Given the description of an element on the screen output the (x, y) to click on. 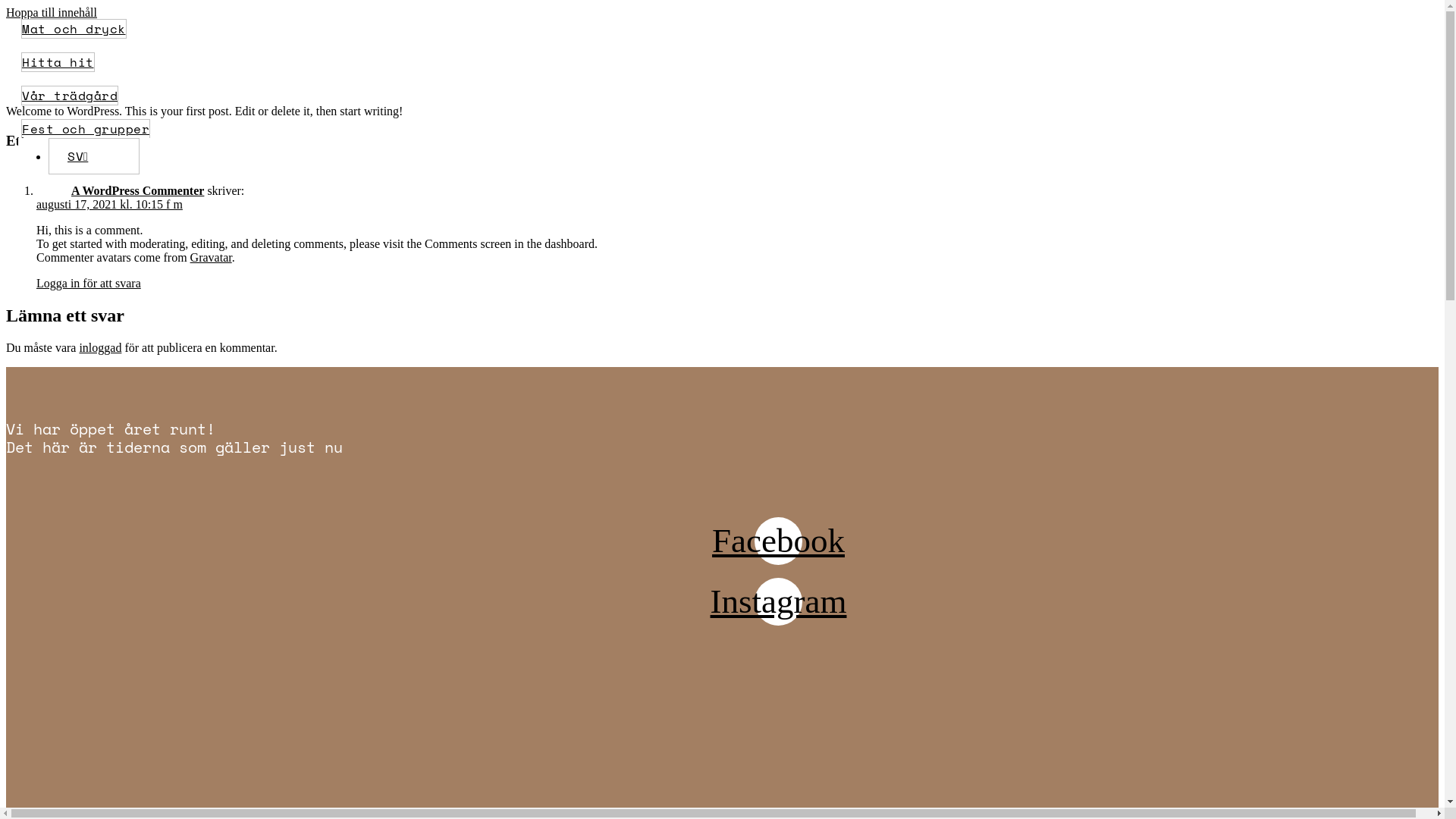
Facebook Element type: text (778, 540)
Mat och dryck Element type: text (73, 28)
SV Element type: text (93, 156)
Gravatar Element type: text (211, 257)
inloggad Element type: text (99, 347)
Instagram Element type: text (778, 601)
A WordPress Commenter Element type: text (137, 190)
Fest och grupper Element type: text (85, 128)
Hitta hit Element type: text (57, 62)
augusti 17, 2021 kl. 10:15 f m Element type: text (109, 203)
